Given the description of an element on the screen output the (x, y) to click on. 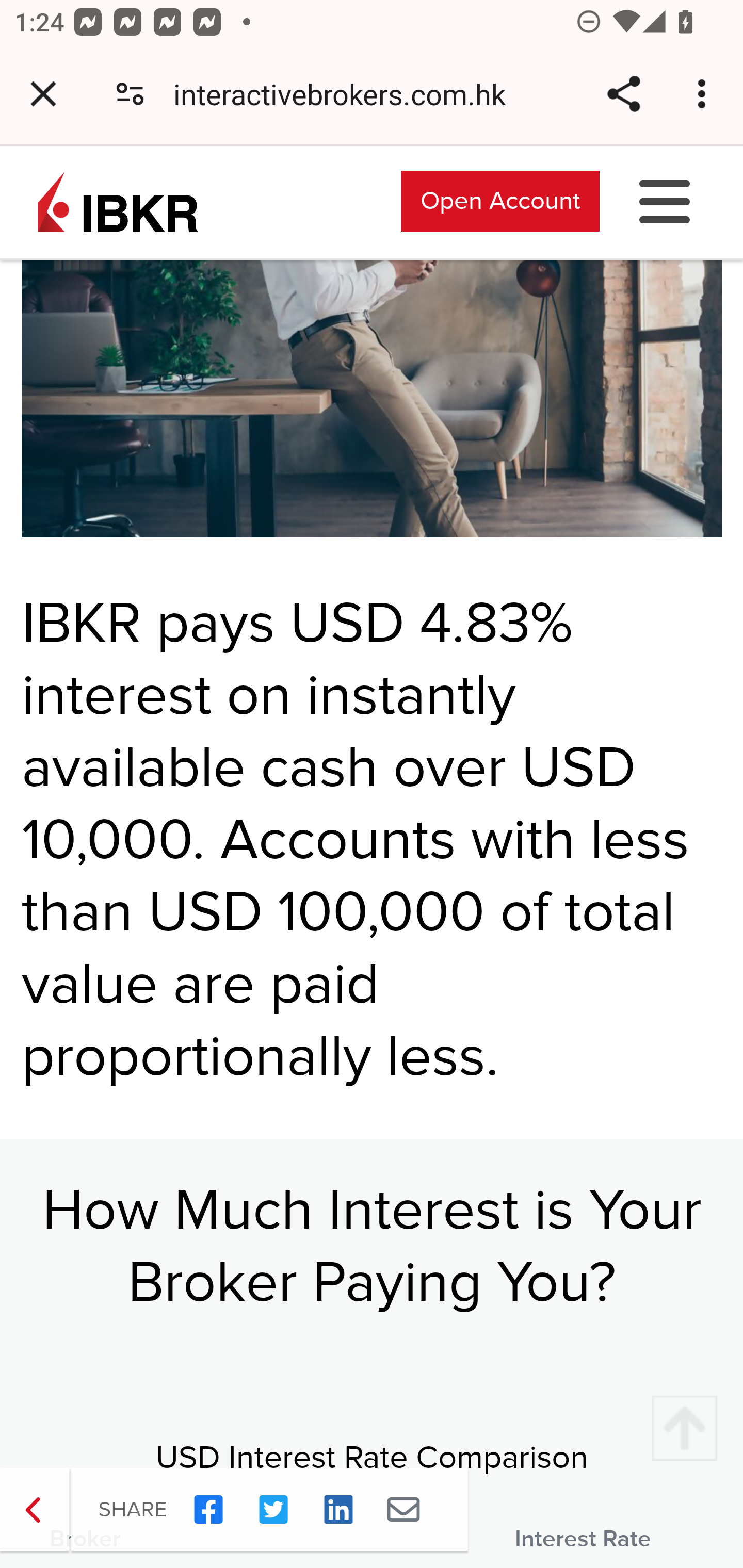
Close tab (43, 93)
Share (623, 93)
Customize and control Google Chrome (705, 93)
Connection is secure (129, 93)
interactivebrokers.com.hk (346, 93)
Interactive Brokers Home (117, 200)
Open Account (500, 200)
Toggle Navigation (665, 200)
To Top (684, 1428)
Share on Facebook  (208, 1509)
Share on Twitter  (272, 1509)
Share on Linkedin  (338, 1509)
Share by Email  (403, 1509)
